Given the description of an element on the screen output the (x, y) to click on. 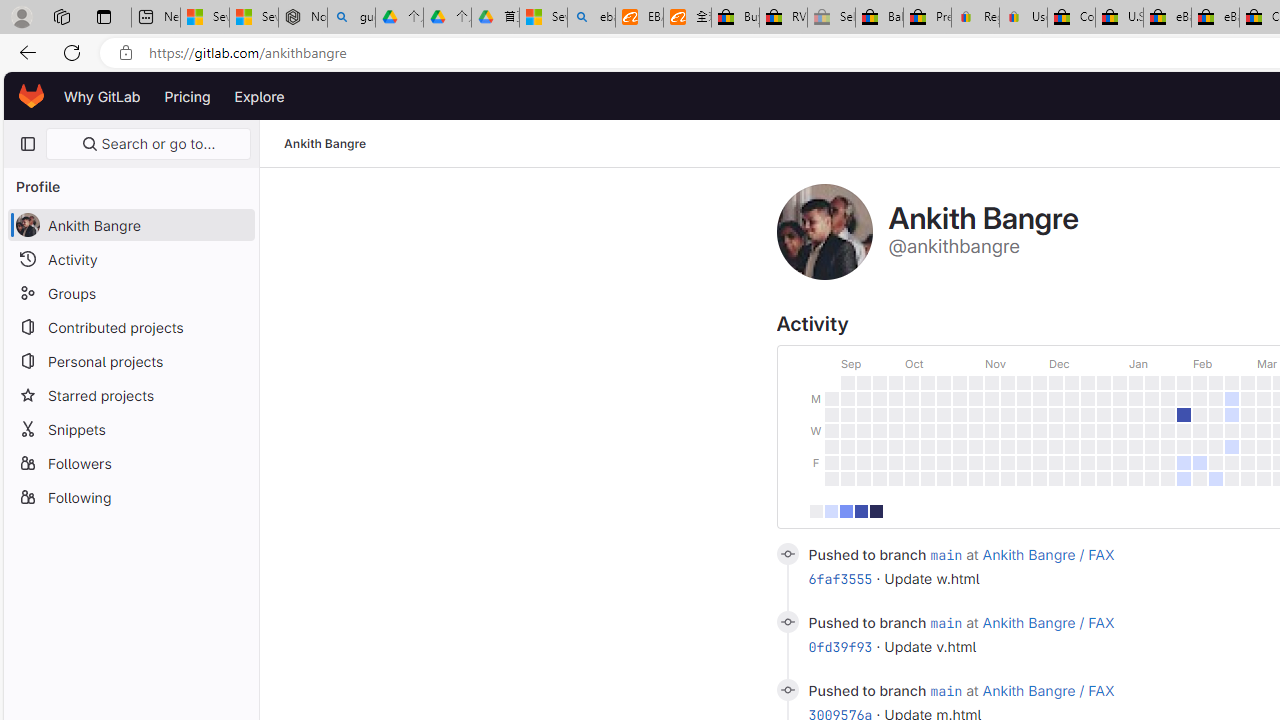
Explore (259, 95)
ebay - Search (591, 17)
U.S. State Privacy Disclosures - eBay Inc. (1119, 17)
Contributed projects (130, 326)
eBay Inc. Reports Third Quarter 2023 Results (1215, 17)
